Given the description of an element on the screen output the (x, y) to click on. 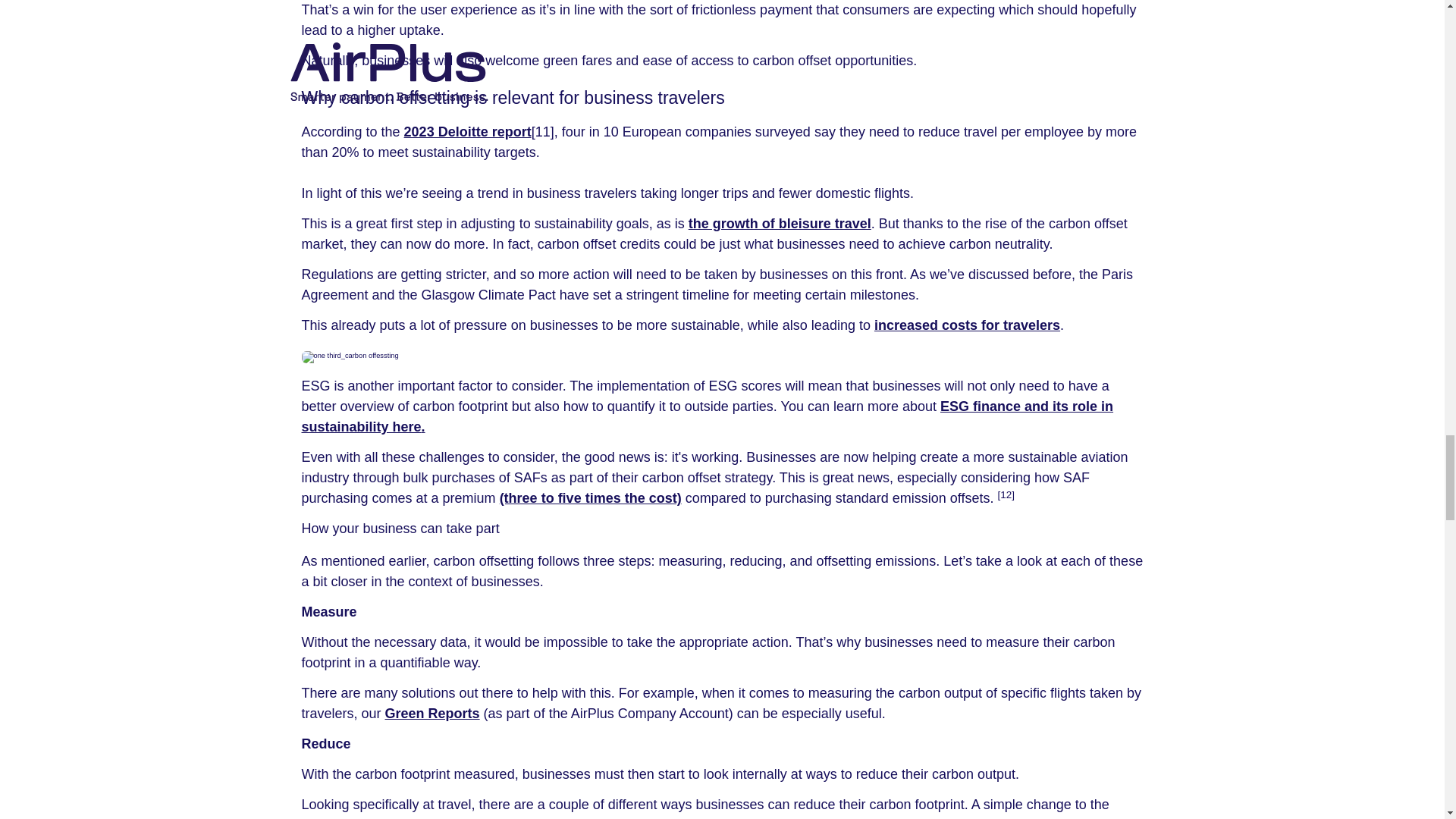
Green Reports (432, 713)
ESG finance and its role in sustainability here (707, 416)
2023 Deloitte report (467, 131)
increased costs for travelers (967, 324)
the growth of bleisure travel (779, 223)
